Given the description of an element on the screen output the (x, y) to click on. 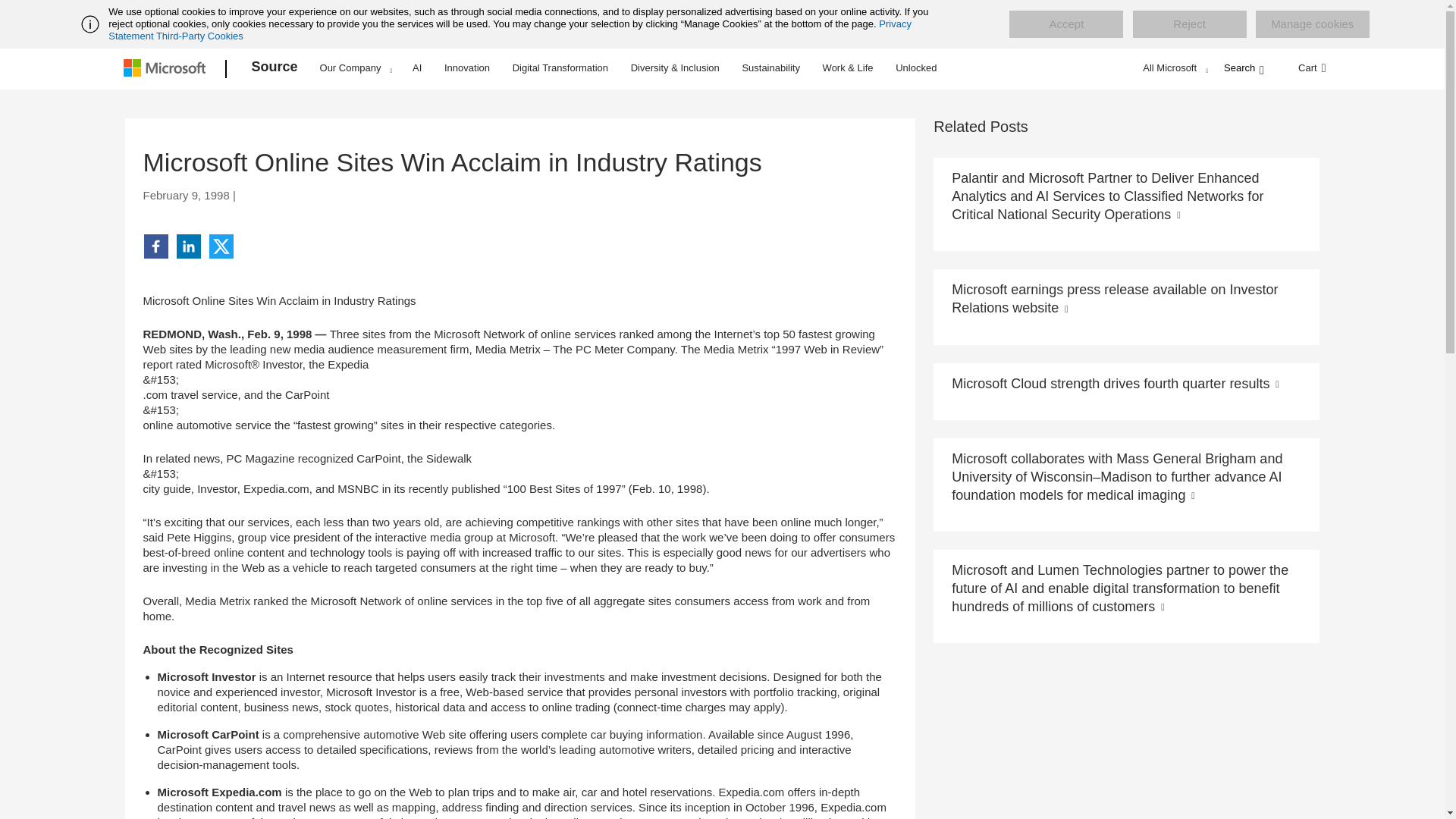
Privacy Statement (509, 29)
Innovation (467, 67)
Manage cookies (1312, 23)
Accept (1065, 23)
Source (274, 69)
Unlocked (915, 67)
Digital Transformation (559, 67)
Third-Party Cookies (199, 35)
Reject (1189, 23)
